Given the description of an element on the screen output the (x, y) to click on. 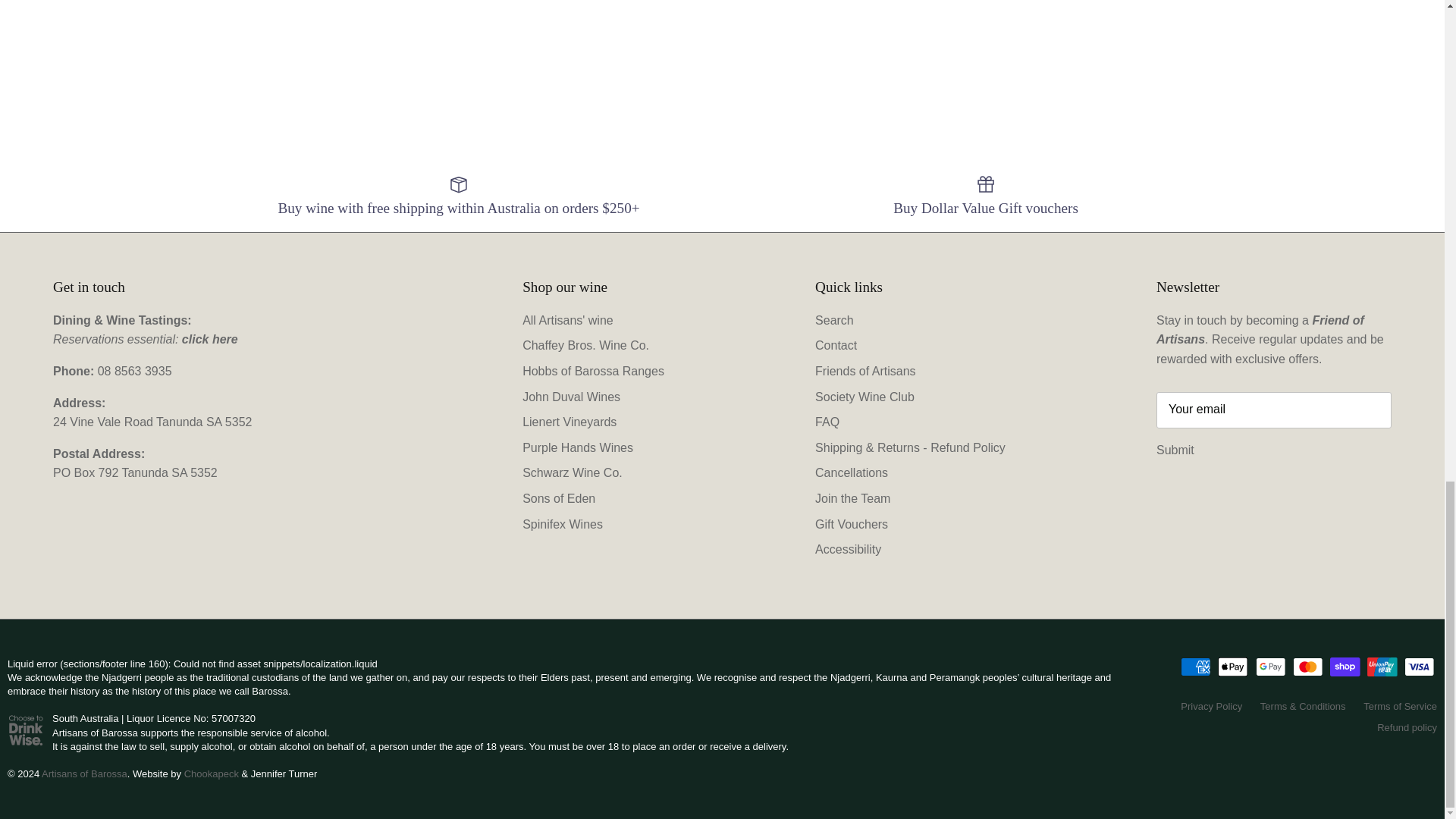
Visa (1419, 666)
Shop Pay (1344, 666)
Book (210, 338)
Mastercard (1307, 666)
tel:08 8563 3935 (134, 370)
Union Pay (1382, 666)
American Express (1195, 666)
Apple Pay (1232, 666)
Google Pay (1270, 666)
GOOGLE MAPS (151, 421)
